Given the description of an element on the screen output the (x, y) to click on. 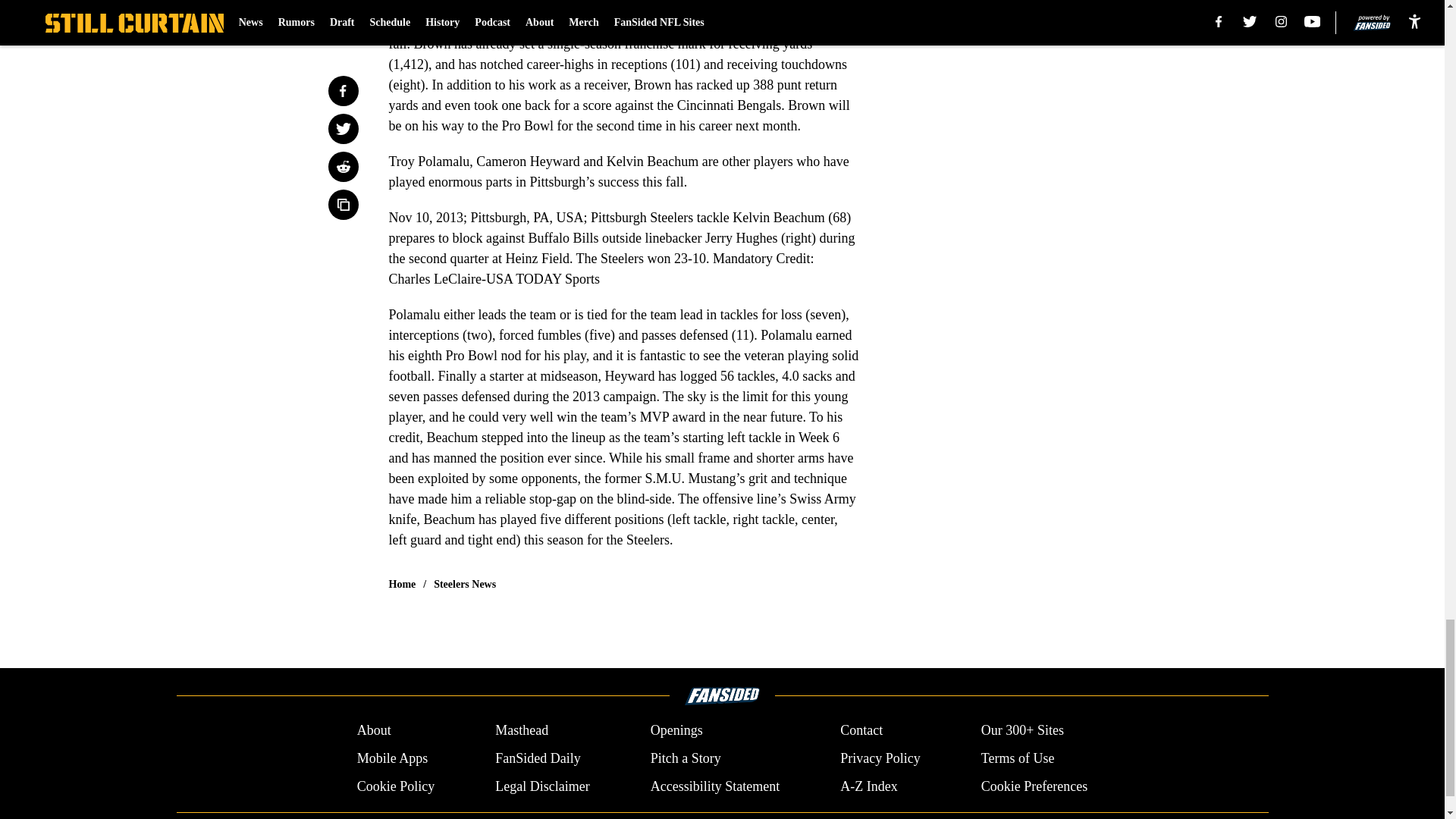
Openings (676, 730)
Steelers News (464, 584)
About (373, 730)
A-Z Index (868, 786)
FanSided Daily (537, 758)
Privacy Policy (880, 758)
Contact (861, 730)
Masthead (521, 730)
Accessibility Statement (714, 786)
Legal Disclaimer (542, 786)
Cookie Policy (395, 786)
Home (401, 584)
Mobile Apps (392, 758)
Pitch a Story (685, 758)
Terms of Use (1017, 758)
